Given the description of an element on the screen output the (x, y) to click on. 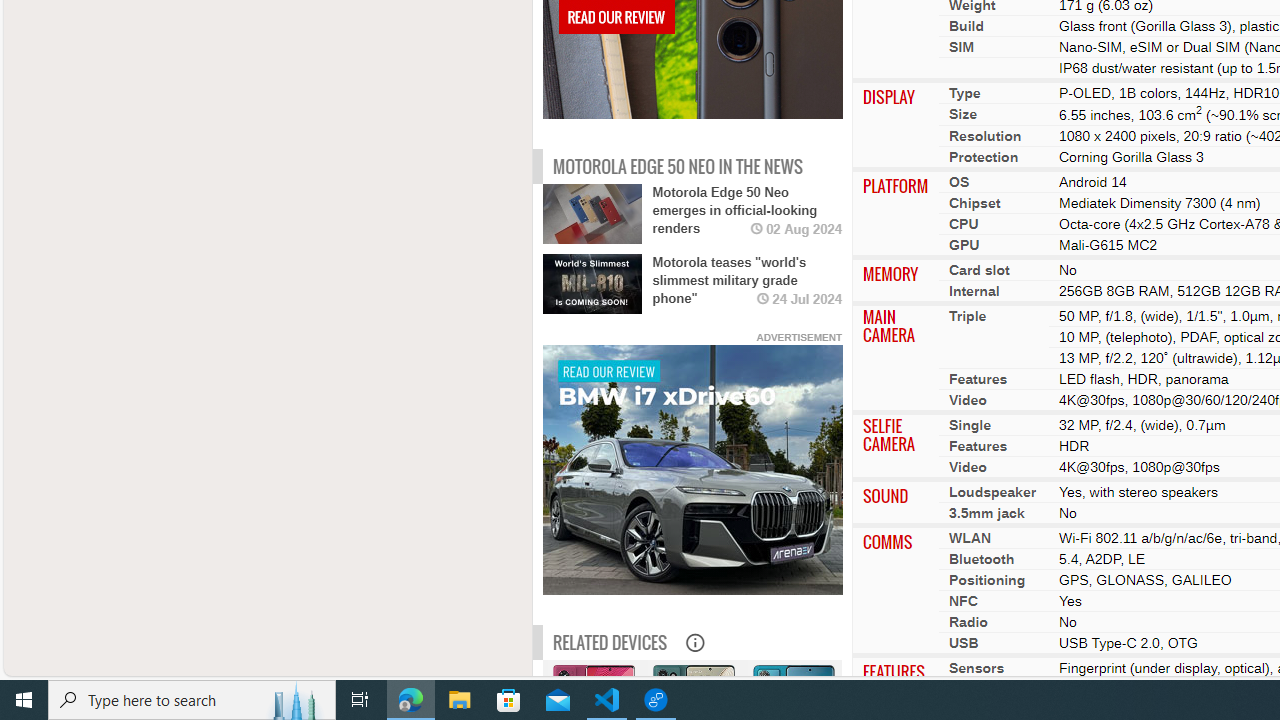
Features (978, 445)
Build (966, 25)
To get missing image descriptions, open the context menu. (692, 471)
Card slot (978, 268)
